Given the description of an element on the screen output the (x, y) to click on. 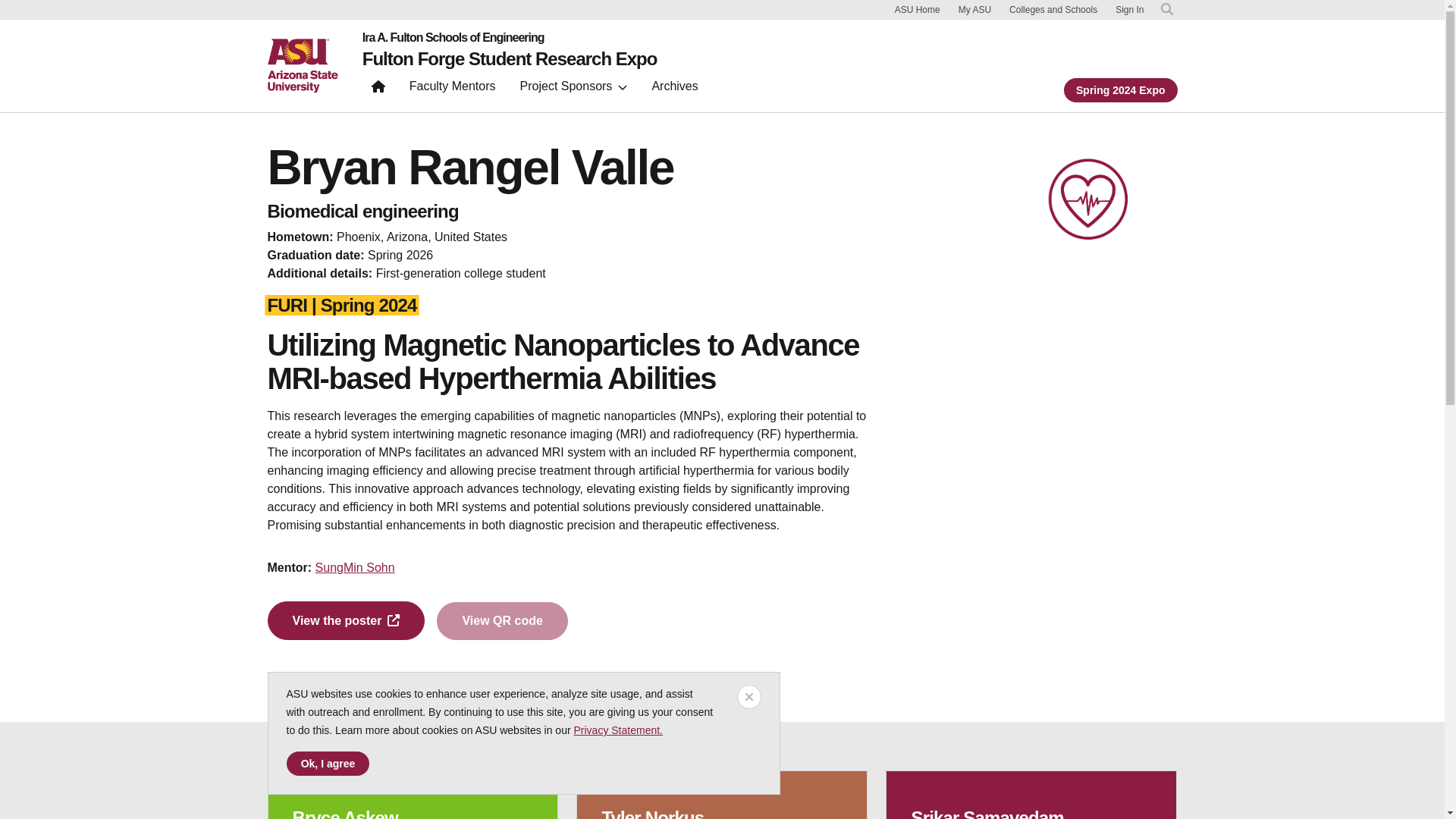
Fulton Forge Student Research Expo home page (378, 89)
Faculty Mentors (452, 89)
Ira A. Fulton Schools of Engineering (510, 37)
Archives (674, 89)
Colleges and Schools (1053, 9)
SungMin Sohn (354, 567)
Sign In (1128, 9)
ASU home page (301, 65)
Spring 2024 Expo (1120, 88)
Project Sponsors (574, 89)
